Given the description of an element on the screen output the (x, y) to click on. 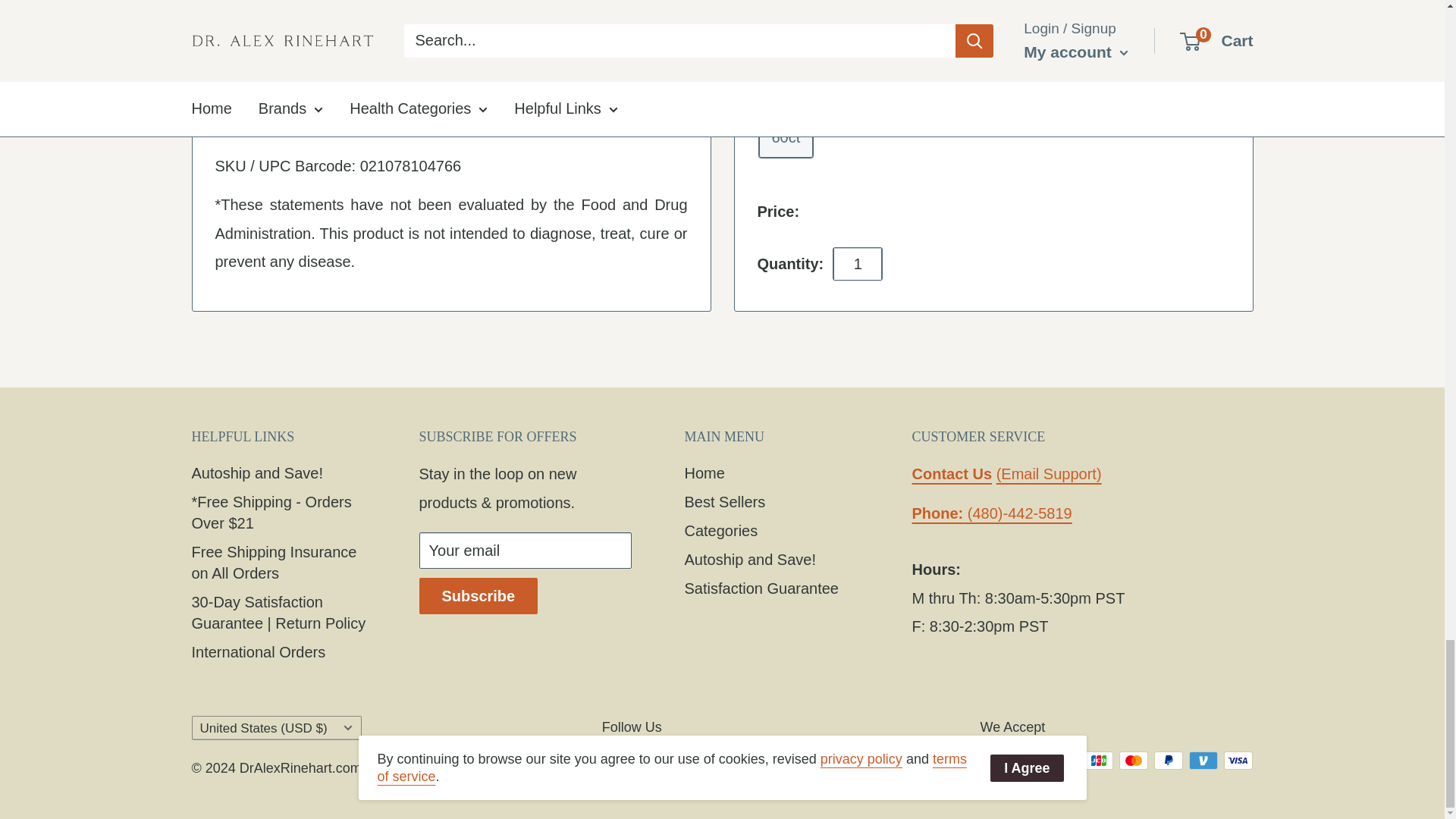
Contact Us (991, 513)
Planetary Herbals (361, 126)
Easy, No Hassle Returns (312, 87)
Contact Us (951, 474)
Contact Us (1048, 474)
